Given the description of an element on the screen output the (x, y) to click on. 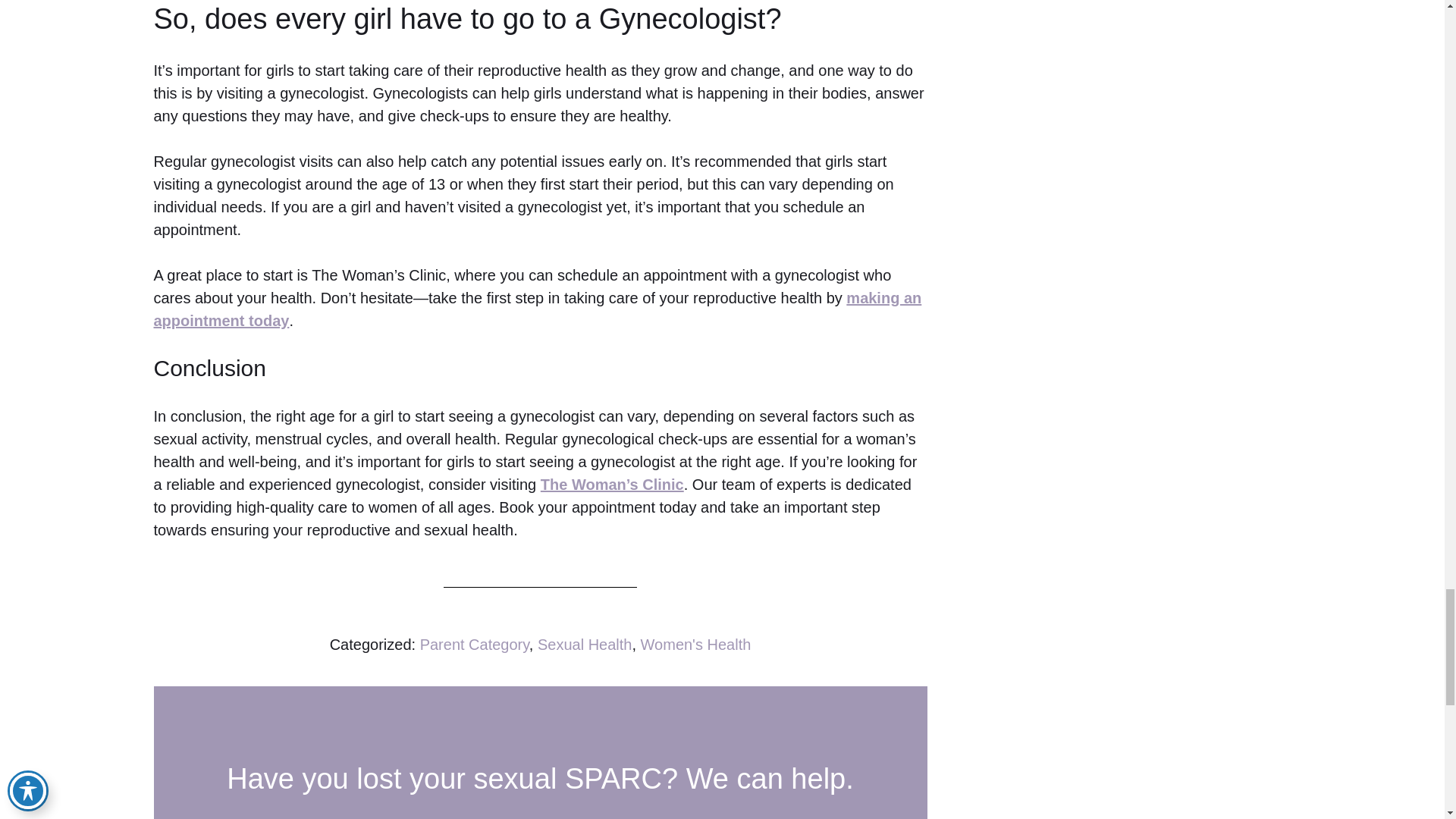
making an appointment today (536, 309)
Women's Health (695, 644)
Sexual Health (584, 644)
Parent Category (474, 644)
